Given the description of an element on the screen output the (x, y) to click on. 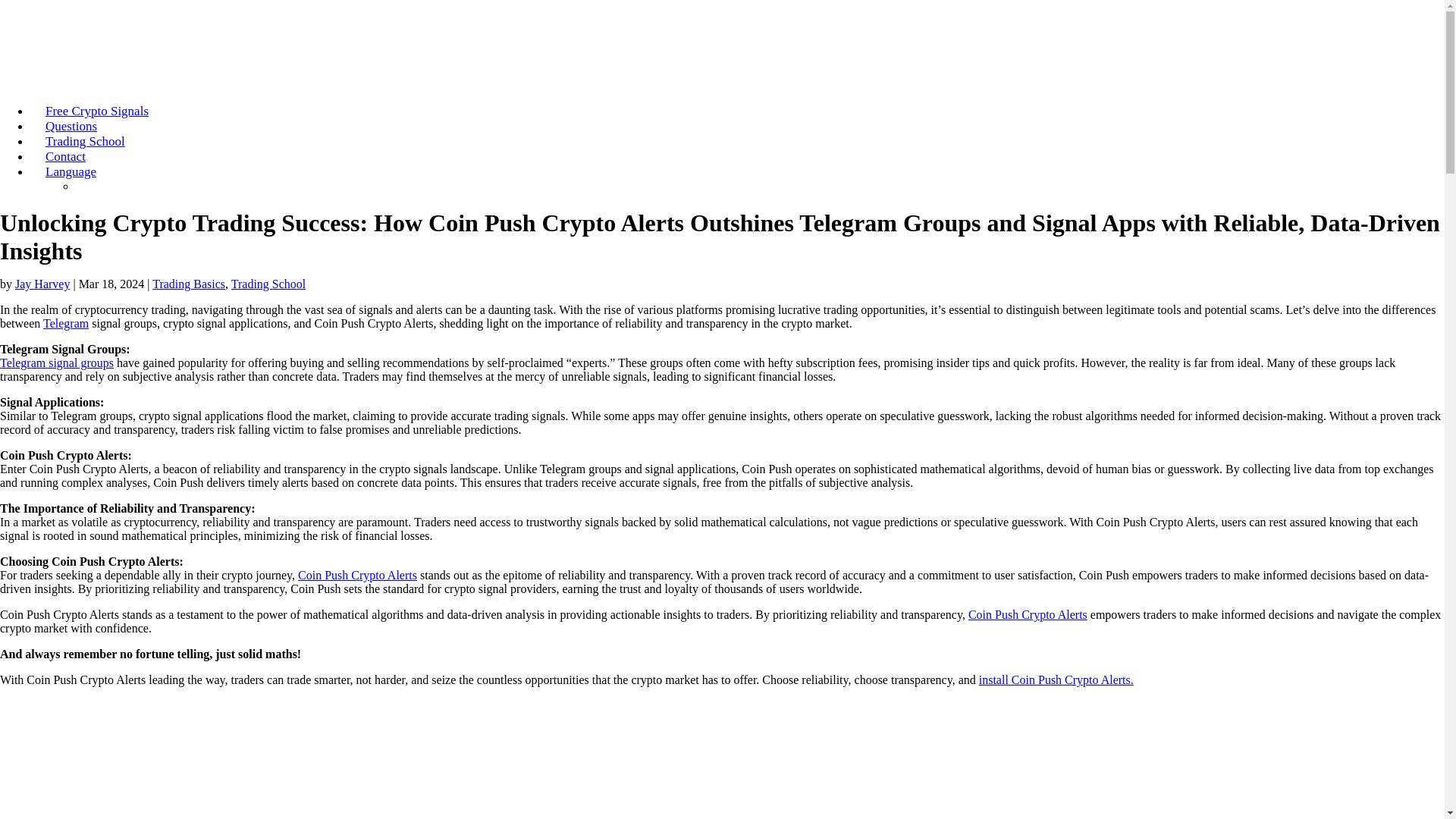
Telegram (65, 323)
Trading Basics (188, 283)
Trading School (85, 141)
Coin Push Crypto Alerts (357, 574)
Questions (71, 125)
install Coin Push Crypto Alerts. (1056, 679)
Language (70, 171)
Coin Push Crypto Alerts (1027, 614)
Contact (65, 156)
Posts by Jay Harvey (41, 283)
